Given the description of an element on the screen output the (x, y) to click on. 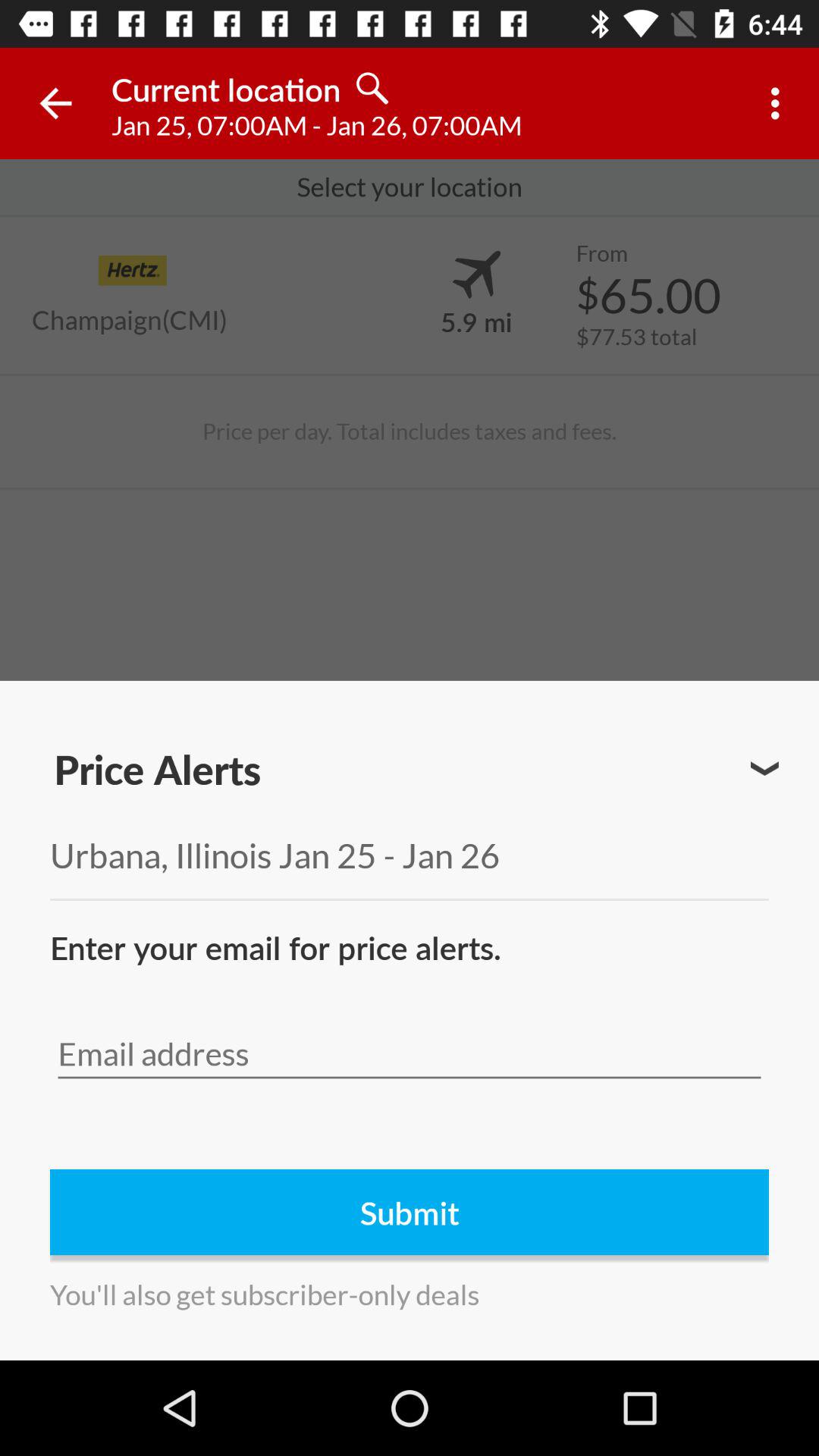
hide popup (764, 768)
